Given the description of an element on the screen output the (x, y) to click on. 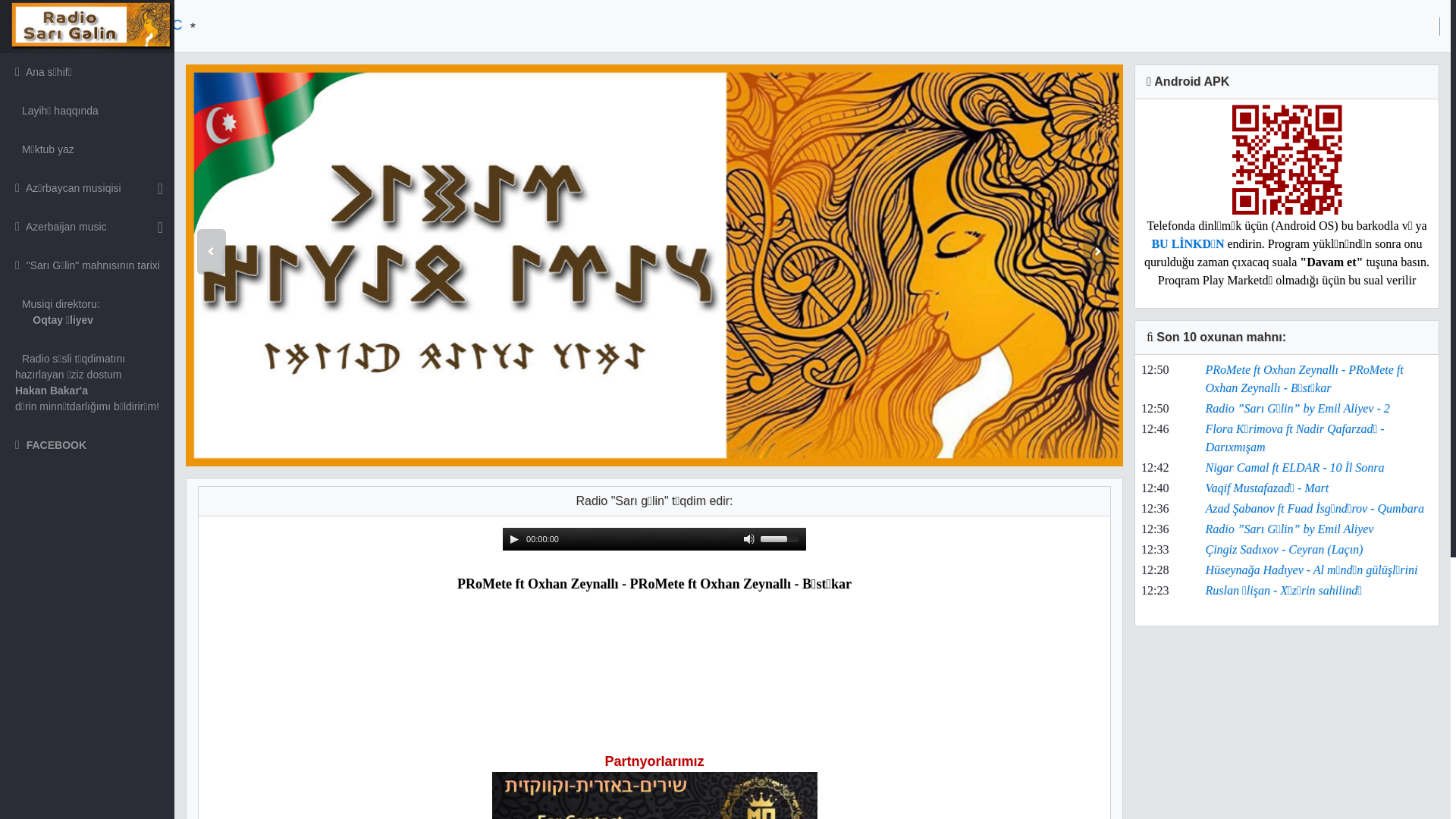
HISTORY OF MUSIC Element type: text (172, 24)
Azerbaijan music Element type: text (87, 226)
FACEBOOK Element type: text (87, 445)
